Given the description of an element on the screen output the (x, y) to click on. 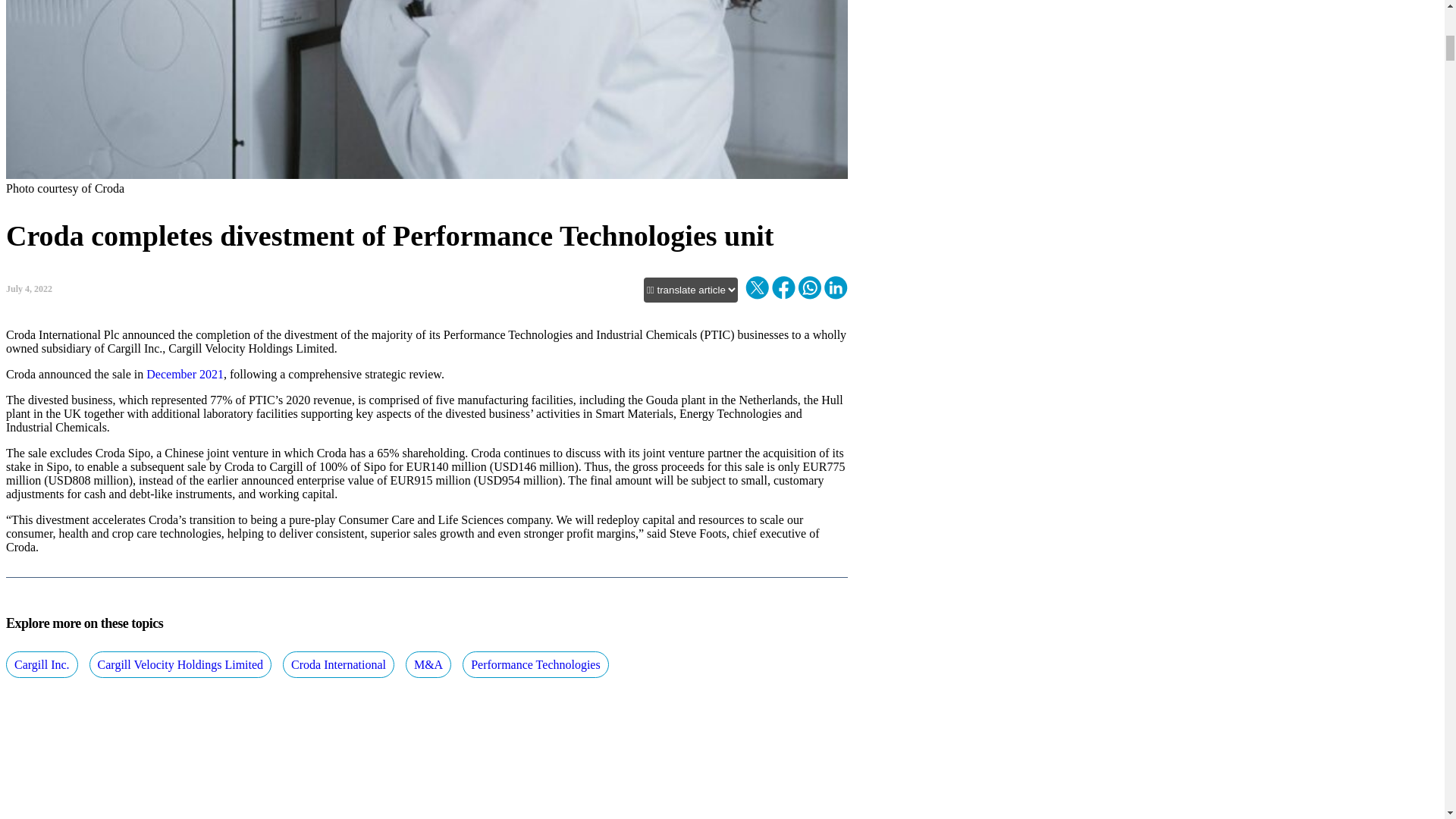
Cargill Inc. (41, 664)
December 2021 (185, 373)
July 4, 2022 (28, 288)
Cargill Velocity Holdings Limited (180, 664)
Performance Technologies (535, 664)
Croda International (338, 664)
